Given the description of an element on the screen output the (x, y) to click on. 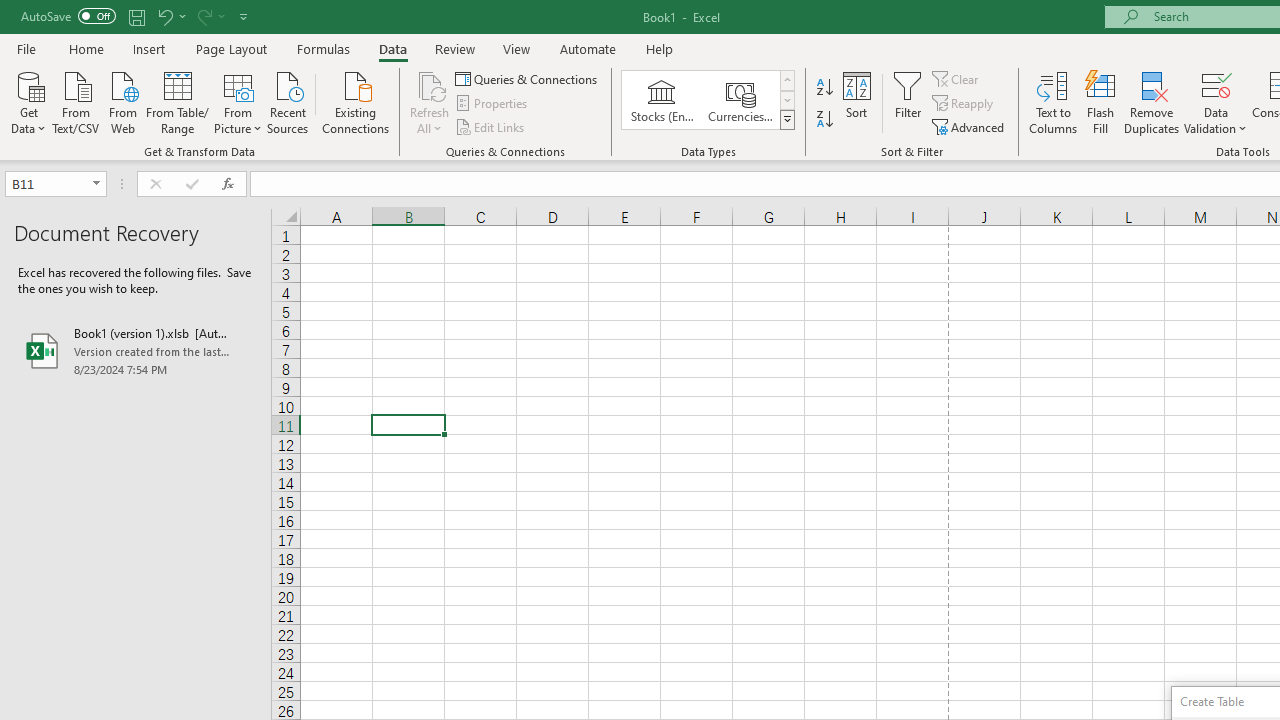
From Table/Range (177, 101)
Existing Connections (355, 101)
Get Data (28, 101)
AutomationID: ConvertToLinkedEntity (708, 99)
Data Types (786, 120)
From Text/CSV (75, 101)
